Given the description of an element on the screen output the (x, y) to click on. 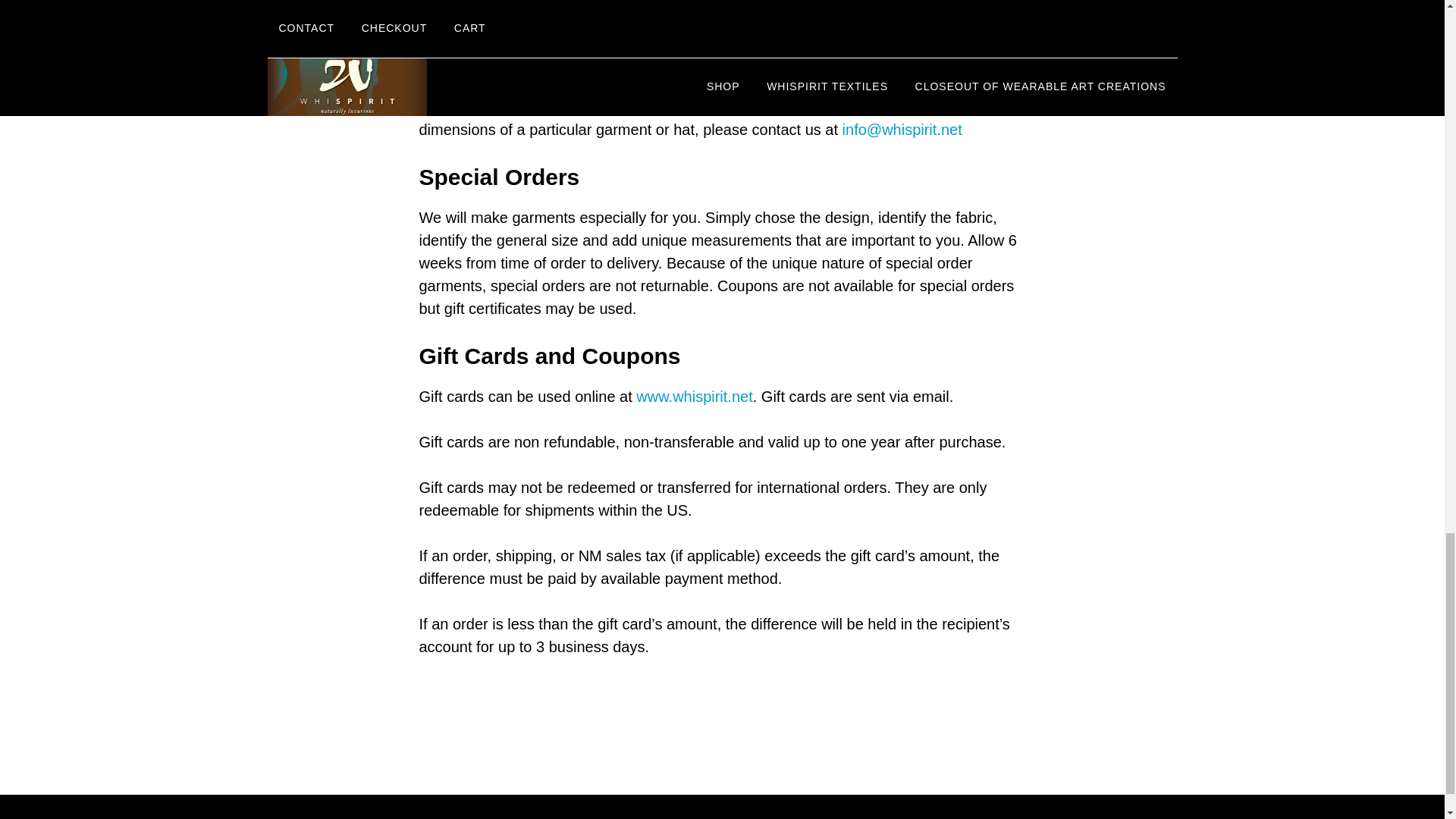
www.whispirit.net (694, 396)
our sizing chart, (748, 84)
